Given the description of an element on the screen output the (x, y) to click on. 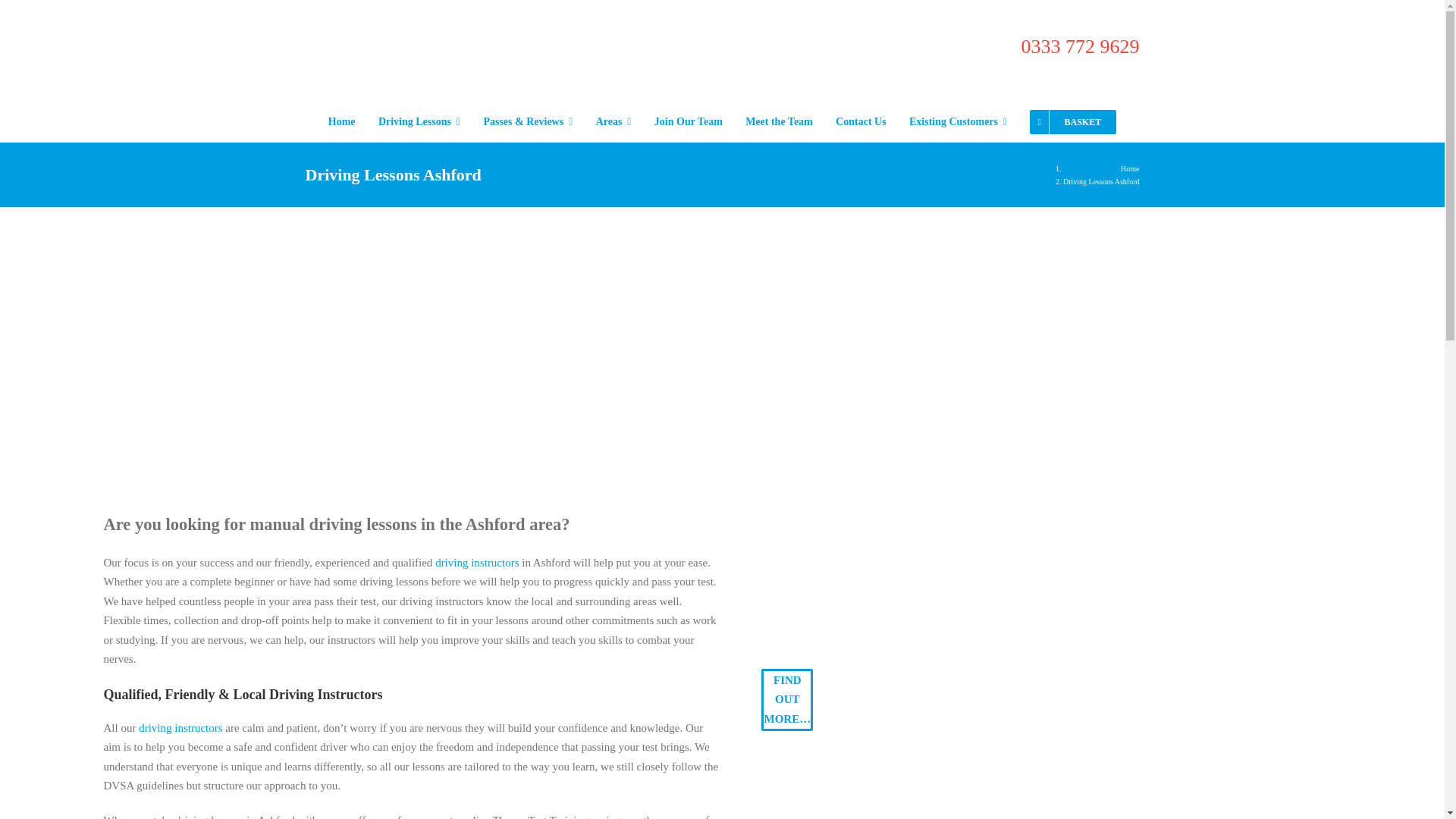
Meet the Team (778, 121)
Existing Customers (957, 121)
driving instructors (180, 727)
driving instructors (476, 562)
Driving Lessons (419, 121)
Home (342, 121)
Home (1129, 167)
Contact Us (860, 121)
BASKET (1072, 121)
Join Our Team (687, 121)
